Given the description of an element on the screen output the (x, y) to click on. 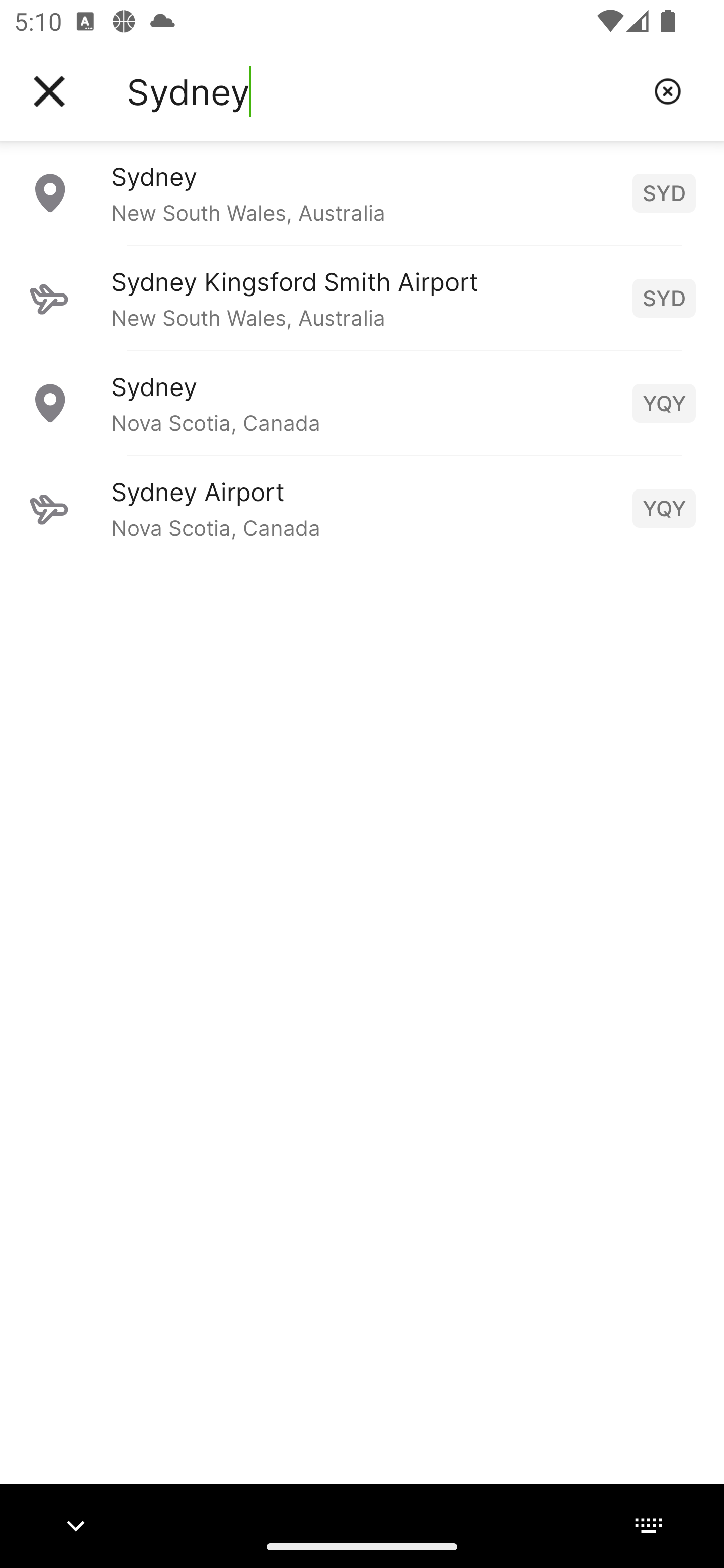
Sydney (382, 91)
Sydney New South Wales, Australia SYD (362, 192)
Sydney Nova Scotia, Canada YQY (362, 402)
Sydney Airport Nova Scotia, Canada YQY (362, 507)
